Given the description of an element on the screen output the (x, y) to click on. 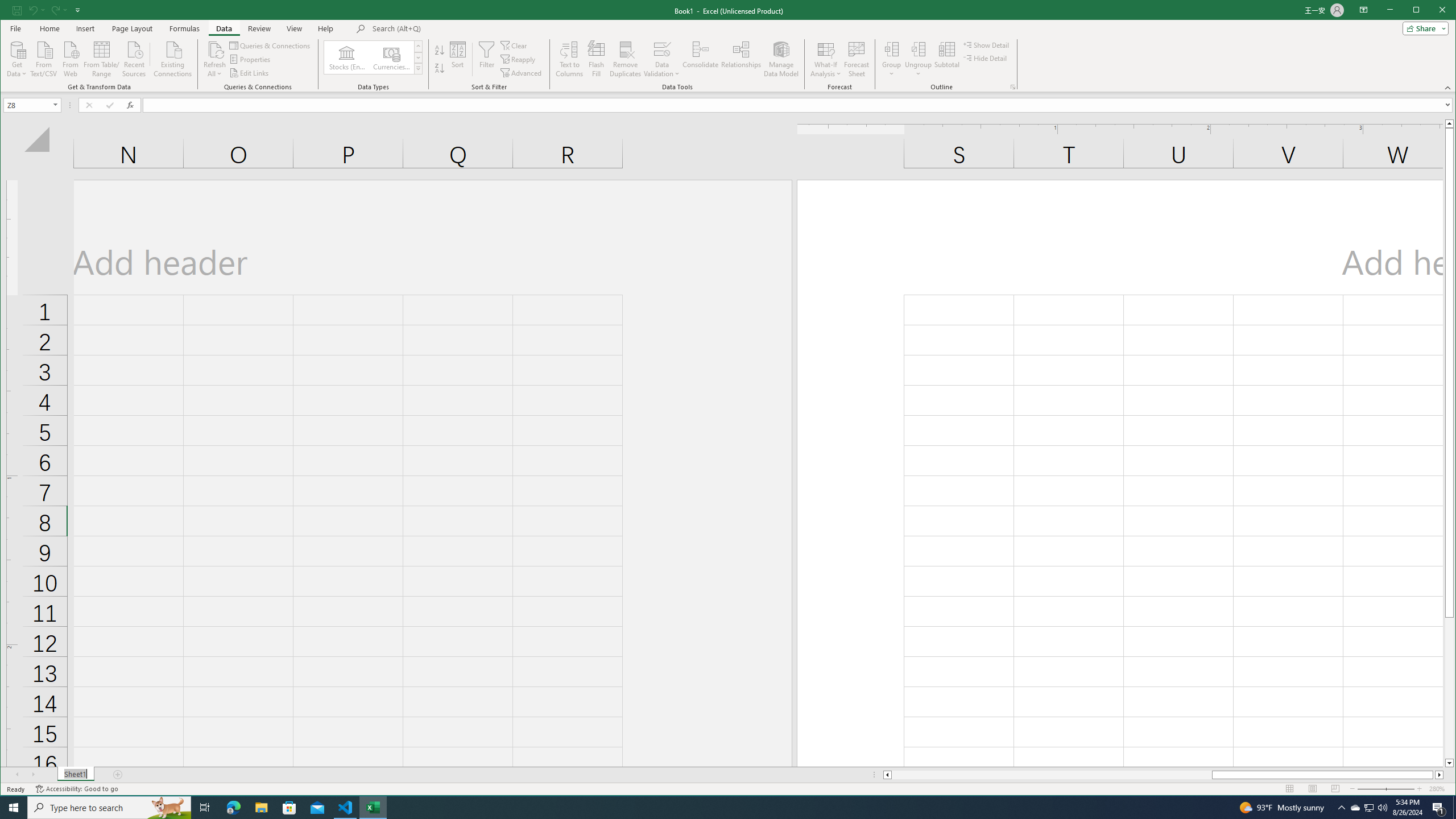
View (294, 28)
Sort... (457, 59)
Formulas (184, 28)
Normal (1289, 788)
Add Sheet (118, 774)
From Text/CSV (43, 57)
Collapse the Ribbon (1448, 87)
From Table/Range (101, 57)
User Promoted Notification Area (1368, 807)
Maximize (1432, 11)
Recent Sources (133, 57)
Share (1422, 27)
Microsoft Store (289, 807)
